Given the description of an element on the screen output the (x, y) to click on. 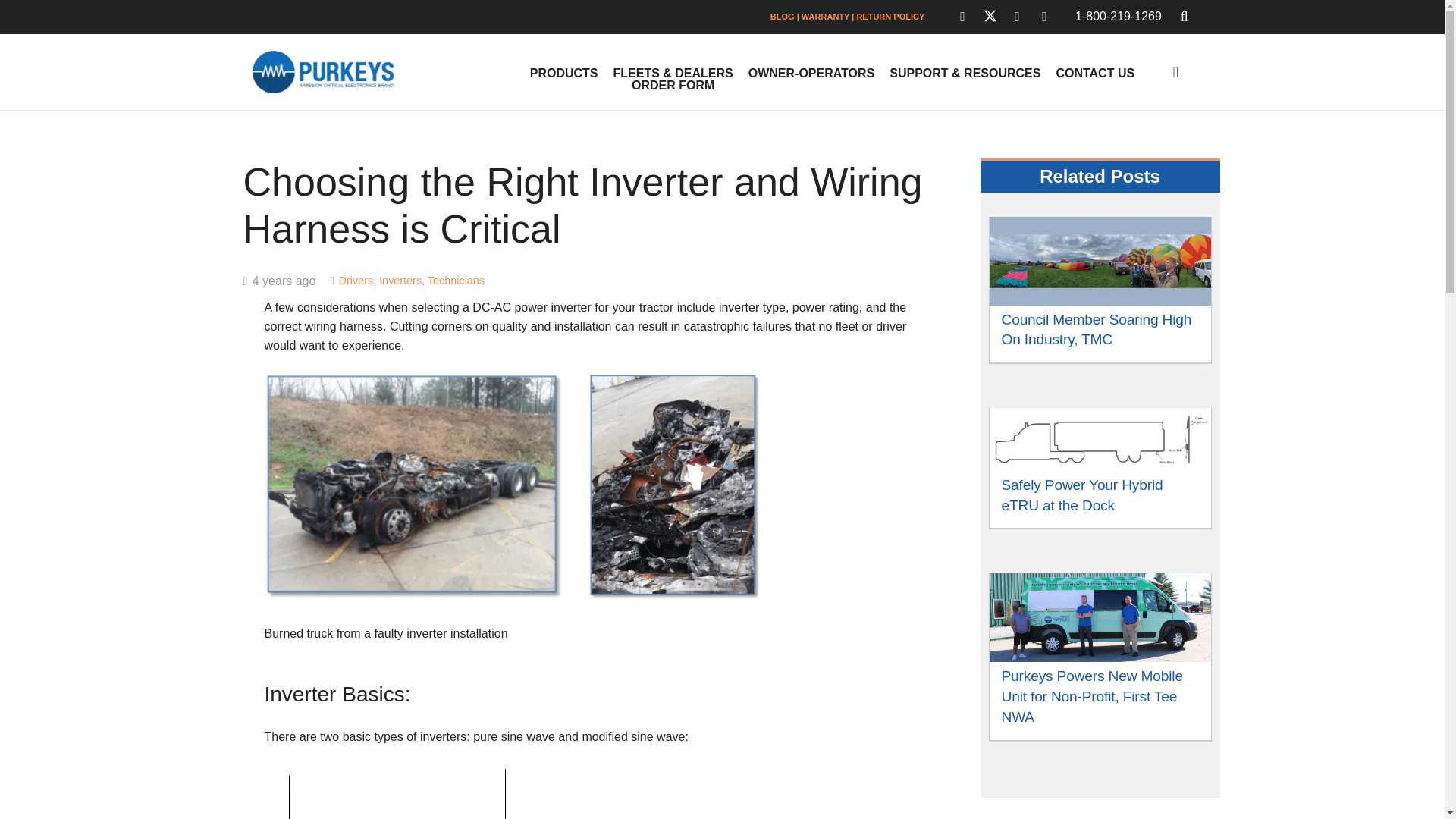
OWNER-OPERATORS (811, 73)
16 April 2020 at 04:30:45 -05:00 (279, 284)
Safely Power Your Hybrid eTRU at the Dock (1081, 494)
1-800-219-1269 (1118, 15)
Technicians (456, 280)
PRODUCTS (563, 73)
CONTACT US (1094, 73)
LinkedIn (1017, 16)
WARRANTY (825, 16)
YouTube (1044, 16)
Purkeys Powers New Mobile Unit for Non-Profit, First Tee NWA (1091, 696)
Facebook (962, 16)
Drivers (356, 280)
Council Member Soaring High On Industry, TMC (1096, 329)
Twitter (990, 16)
